Given the description of an element on the screen output the (x, y) to click on. 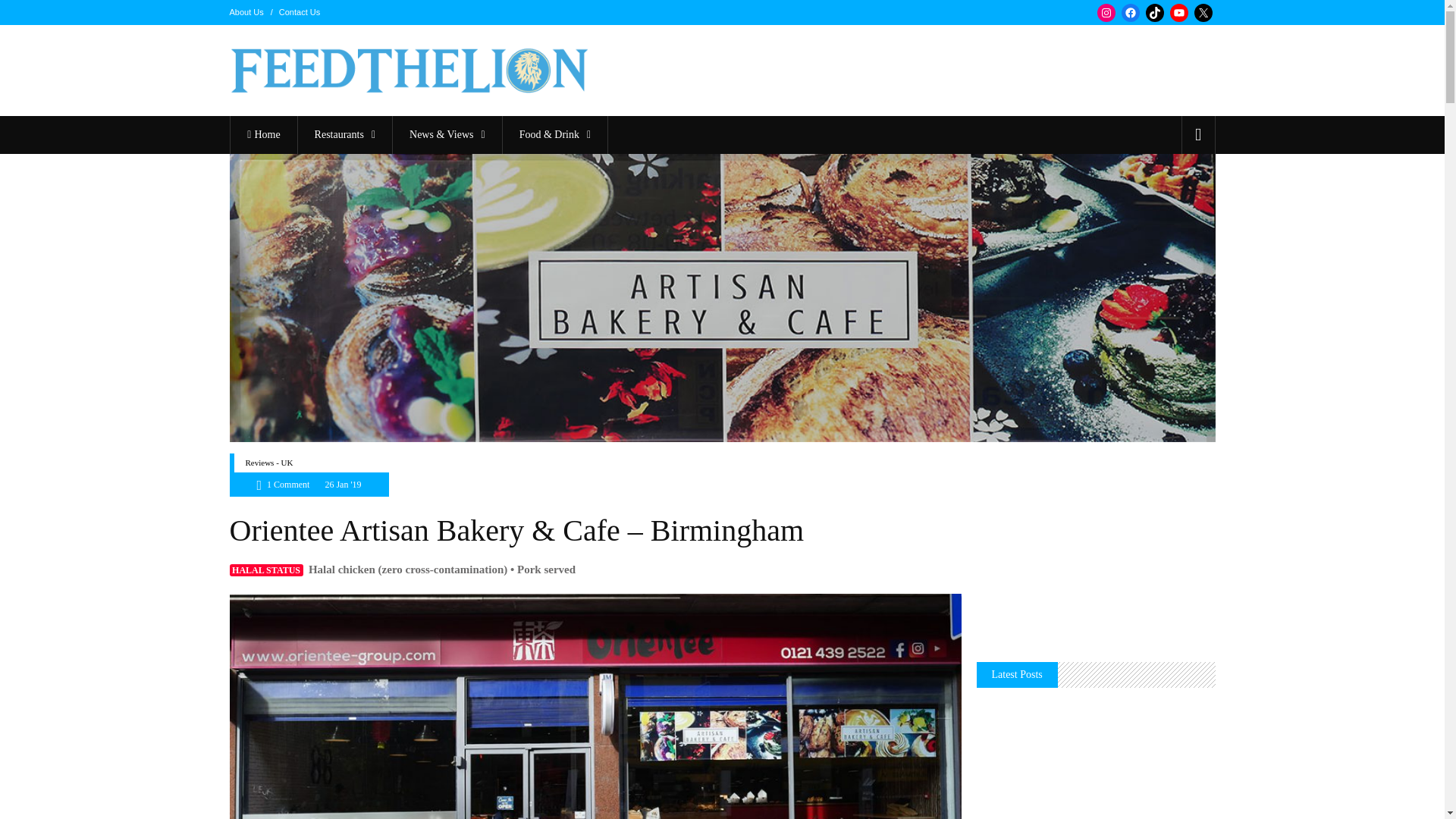
X (1202, 13)
TikTok (1153, 13)
YouTube (1178, 13)
Home (263, 134)
About Us (245, 11)
Instagram (1105, 13)
Facebook (1129, 13)
Restaurants (344, 134)
Contact Us (299, 11)
